Given the description of an element on the screen output the (x, y) to click on. 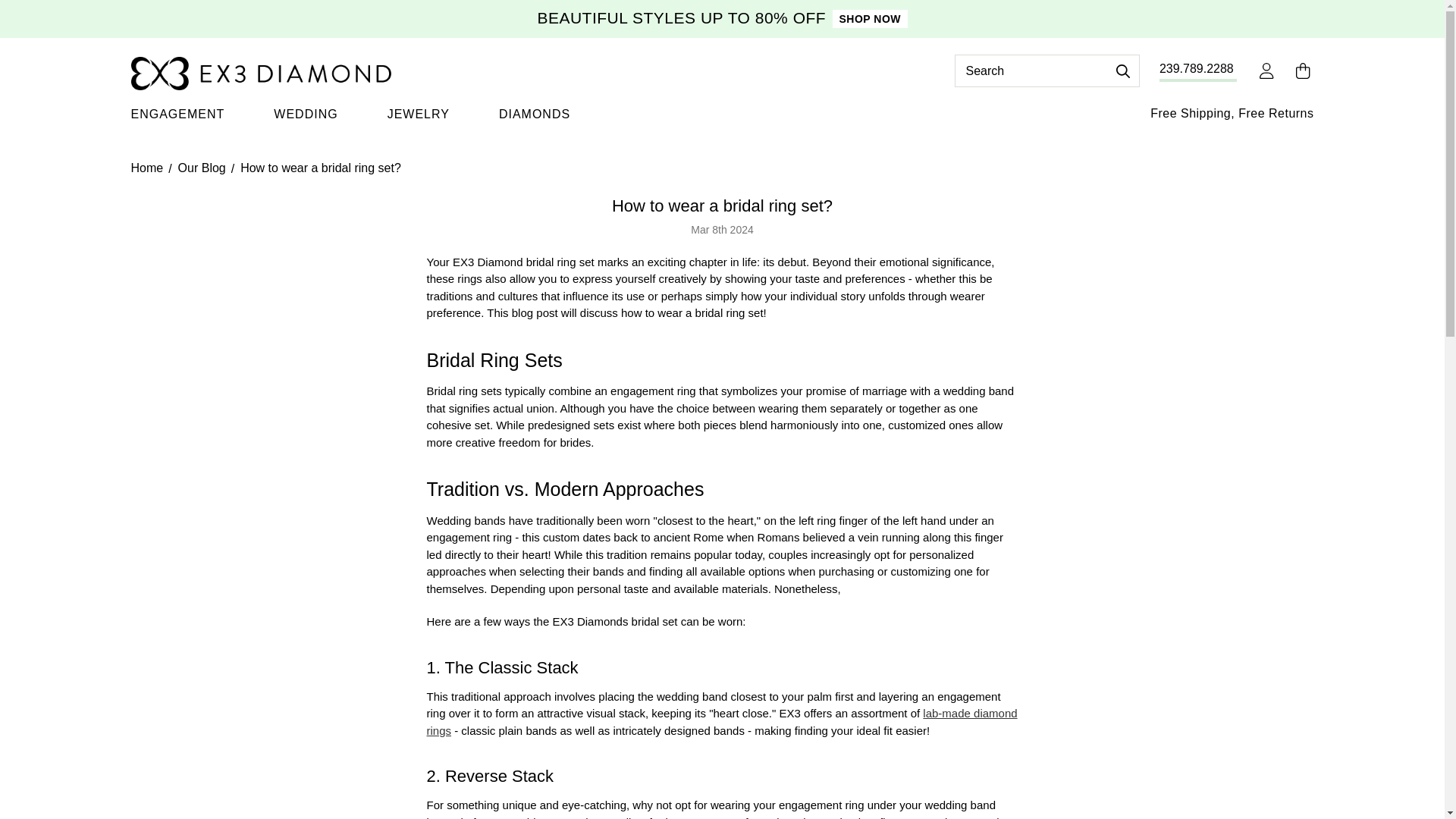
ENGAGEMENT (177, 114)
Smile.io Rewards Program Launcher (62, 726)
SHOP NOW (869, 18)
239.789.2288 (1197, 64)
EX3 Diamond (260, 73)
